Given the description of an element on the screen output the (x, y) to click on. 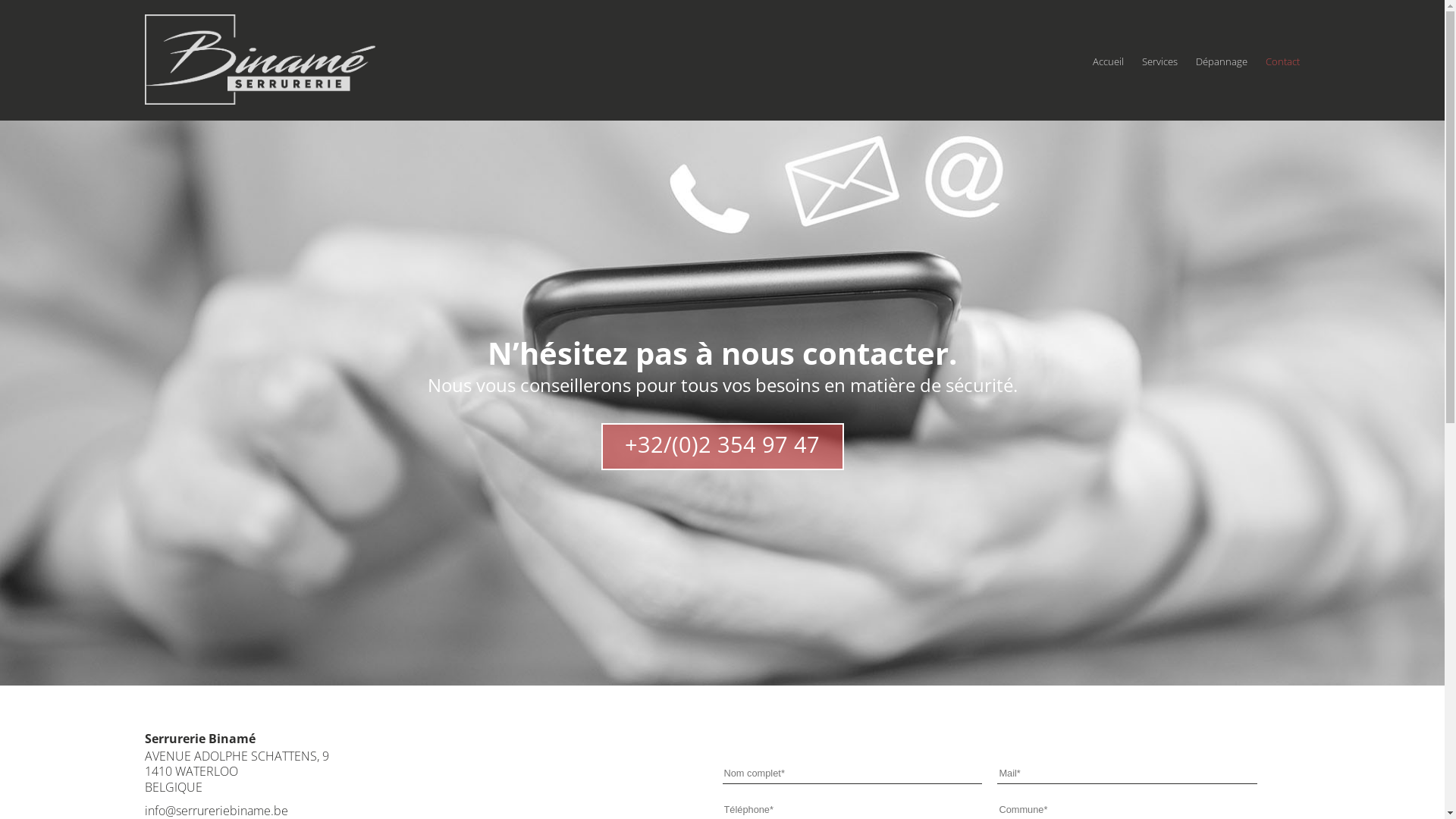
Services Element type: text (1159, 61)
+32/(0)2 354 97 47 Element type: text (721, 435)
Contact Element type: text (1282, 61)
Accueil Element type: text (1107, 61)
Serrurerie Biname Brabant Wallon & Bruxelles Element type: hover (722, 402)
